Given the description of an element on the screen output the (x, y) to click on. 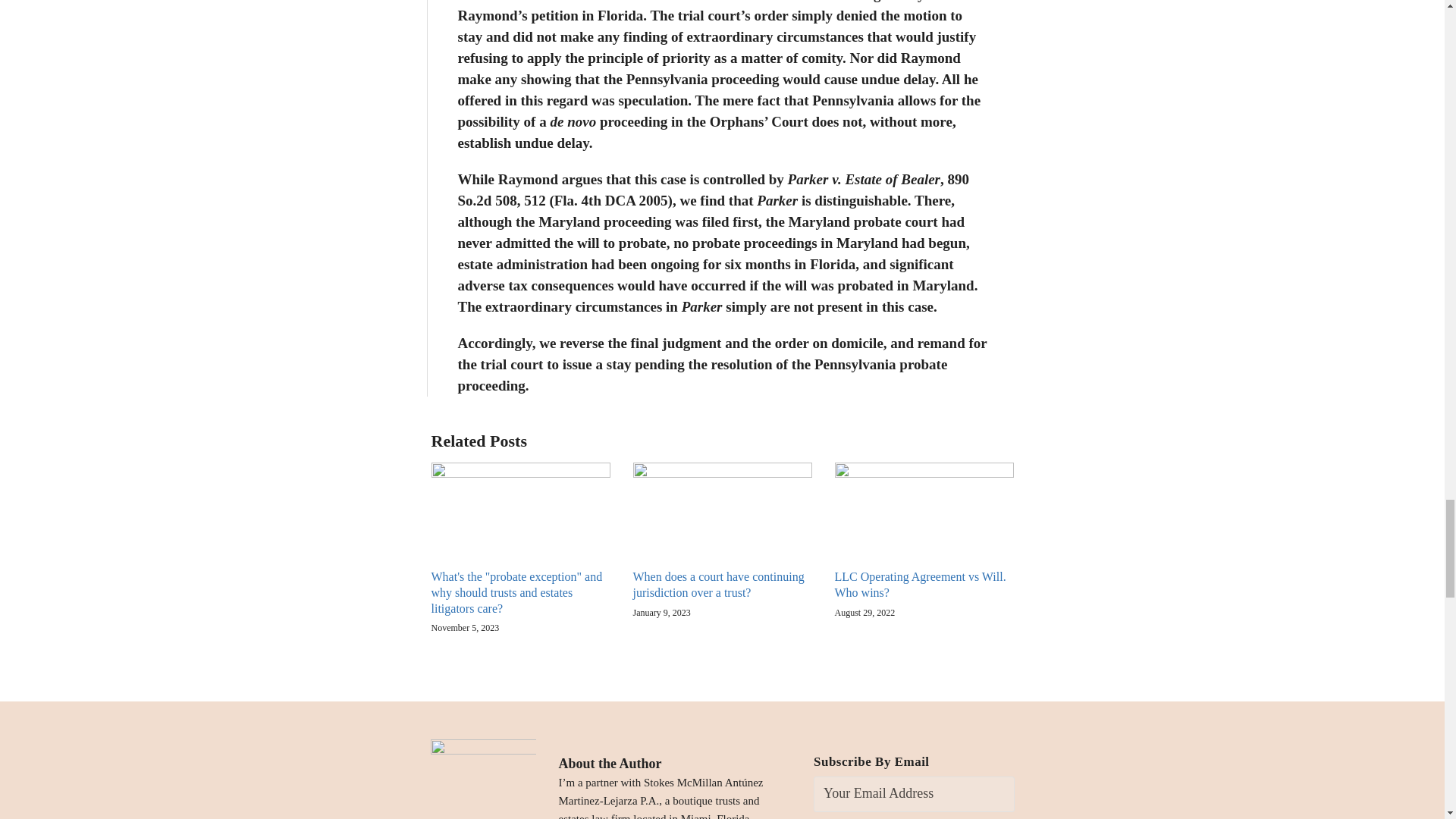
LLC Operating Agreement vs Will. Who wins? (923, 585)
When does a court have continuing jurisdiction over a trust? (720, 585)
